Given the description of an element on the screen output the (x, y) to click on. 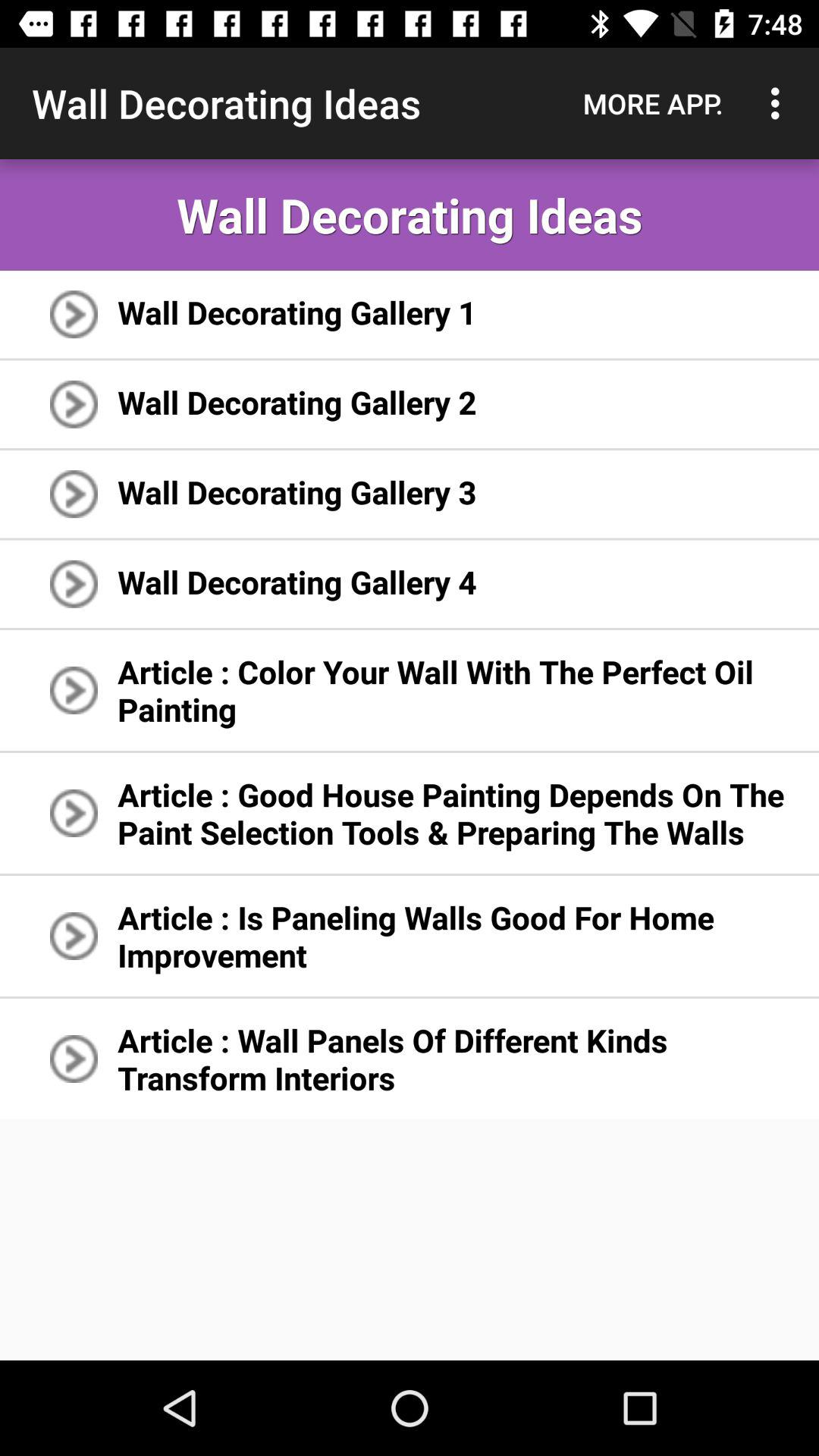
open item next to the more app. (779, 103)
